Given the description of an element on the screen output the (x, y) to click on. 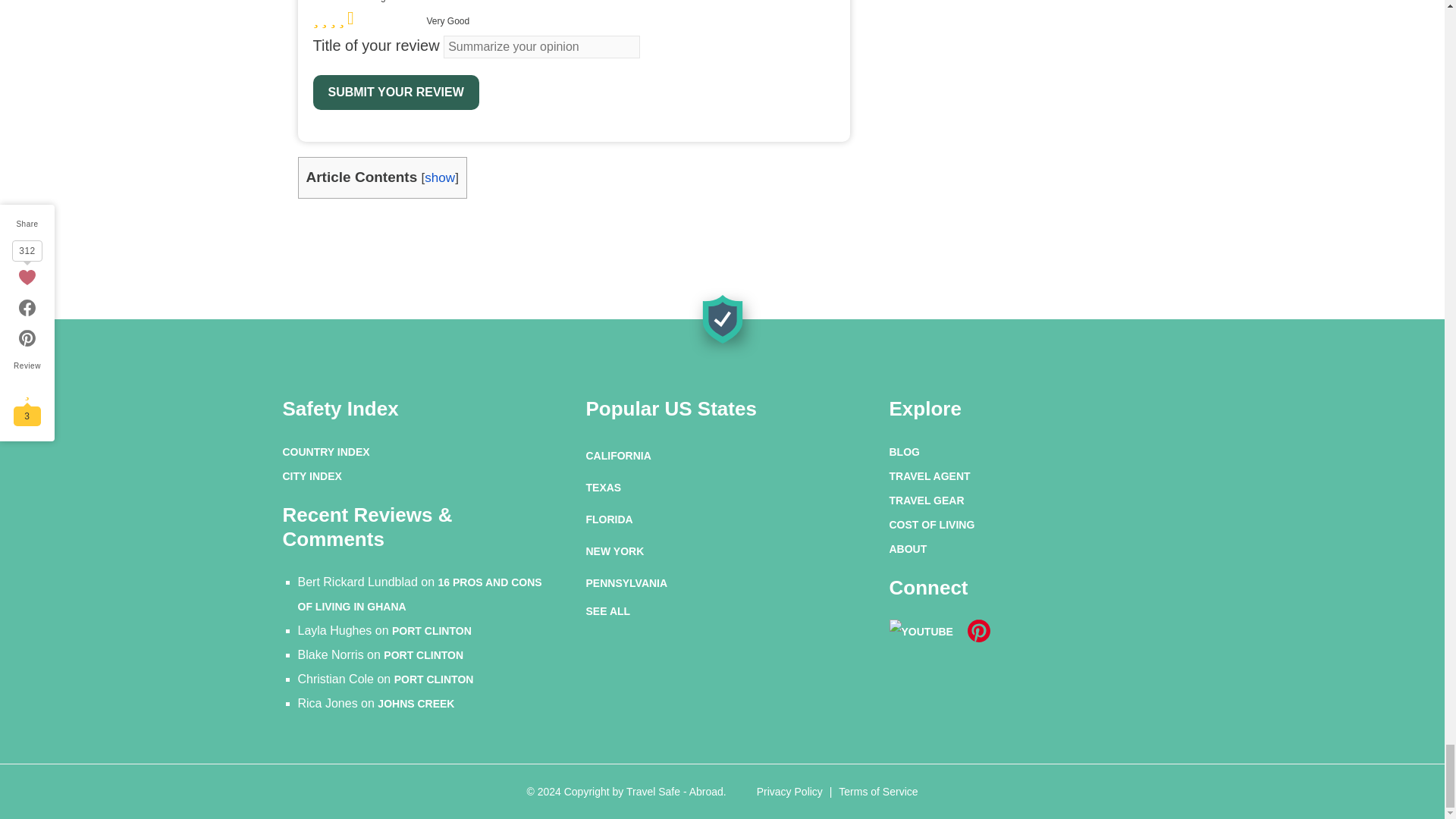
Submit Your Review (396, 92)
